Given the description of an element on the screen output the (x, y) to click on. 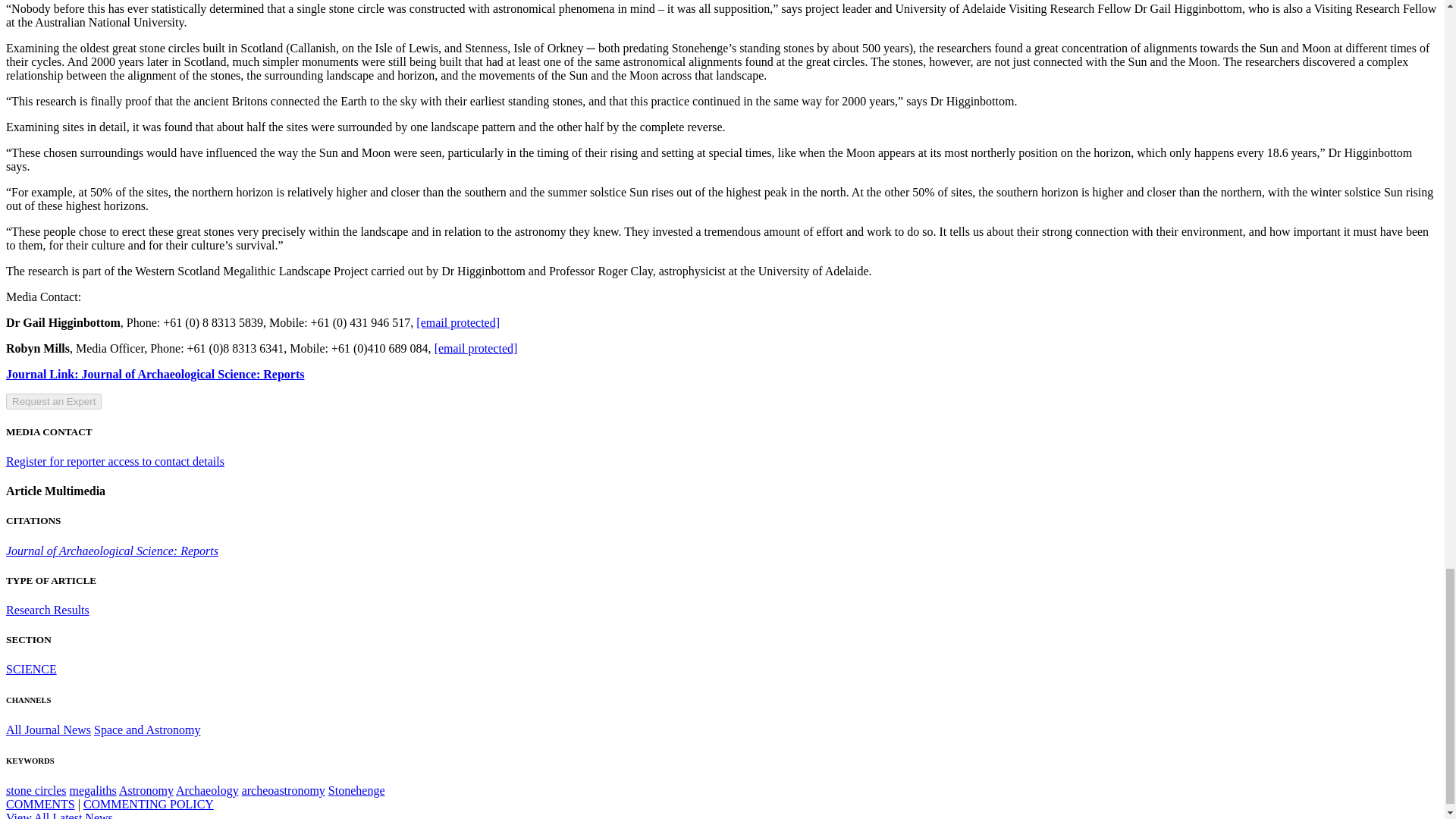
Show all articles in this channel (30, 668)
Research Results (46, 609)
Show all articles in this channel (47, 729)
Show all articles in this channel (147, 729)
Search for articles tagged with this keyword or phrase (35, 789)
